Given the description of an element on the screen output the (x, y) to click on. 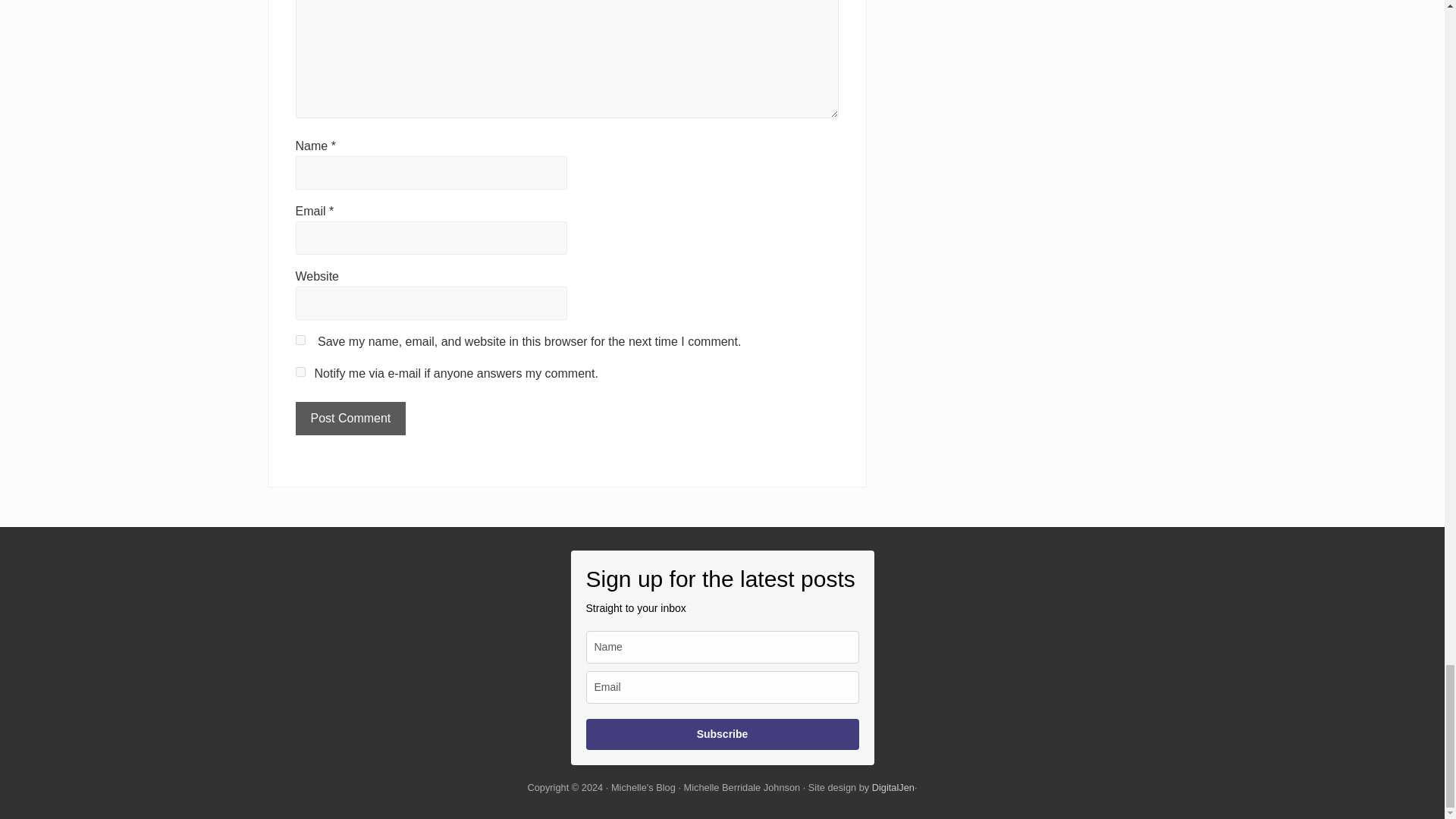
yes (300, 339)
Post Comment (350, 418)
on (300, 371)
